Given the description of an element on the screen output the (x, y) to click on. 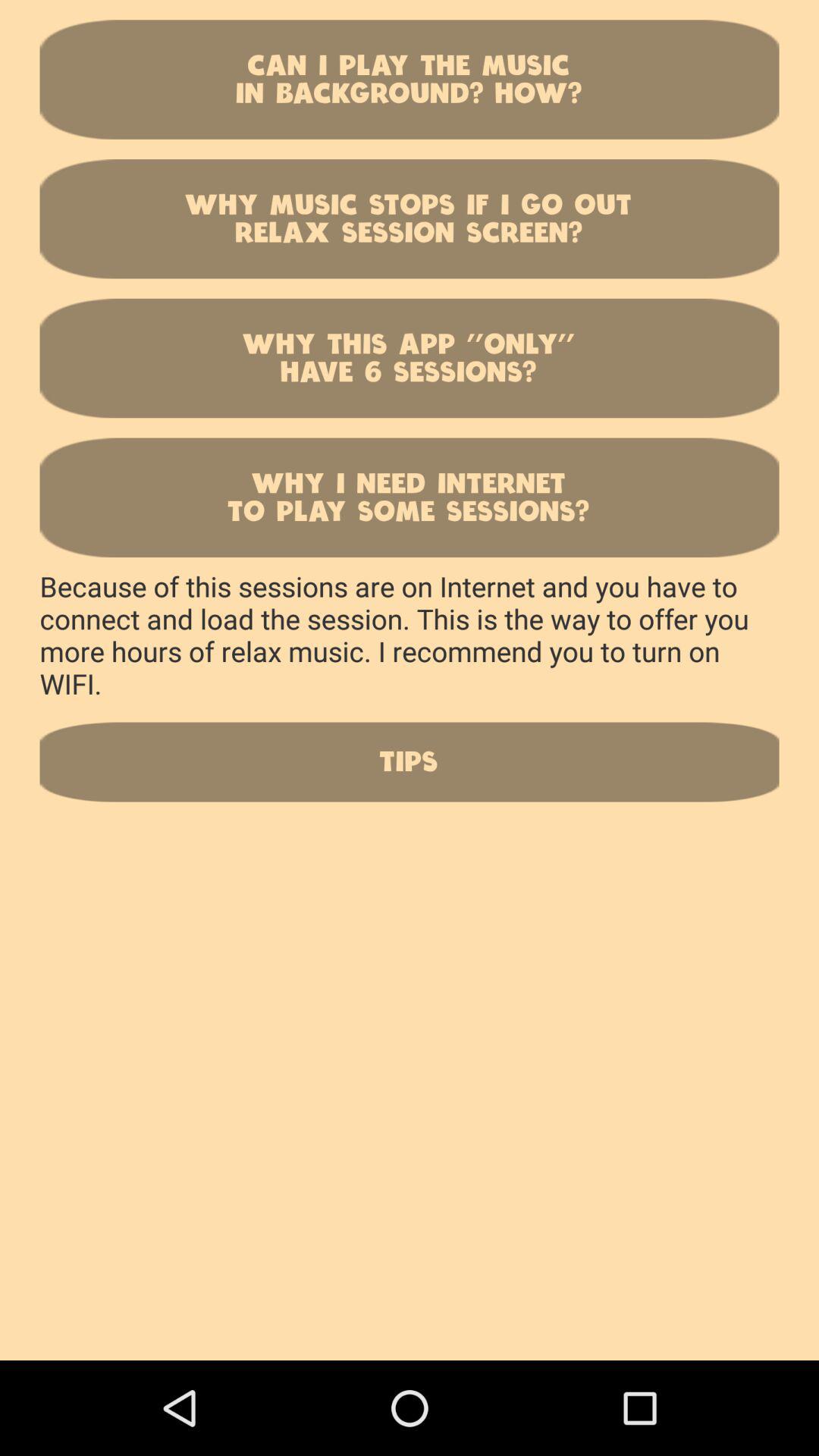
turn off app below the because of this app (409, 761)
